Given the description of an element on the screen output the (x, y) to click on. 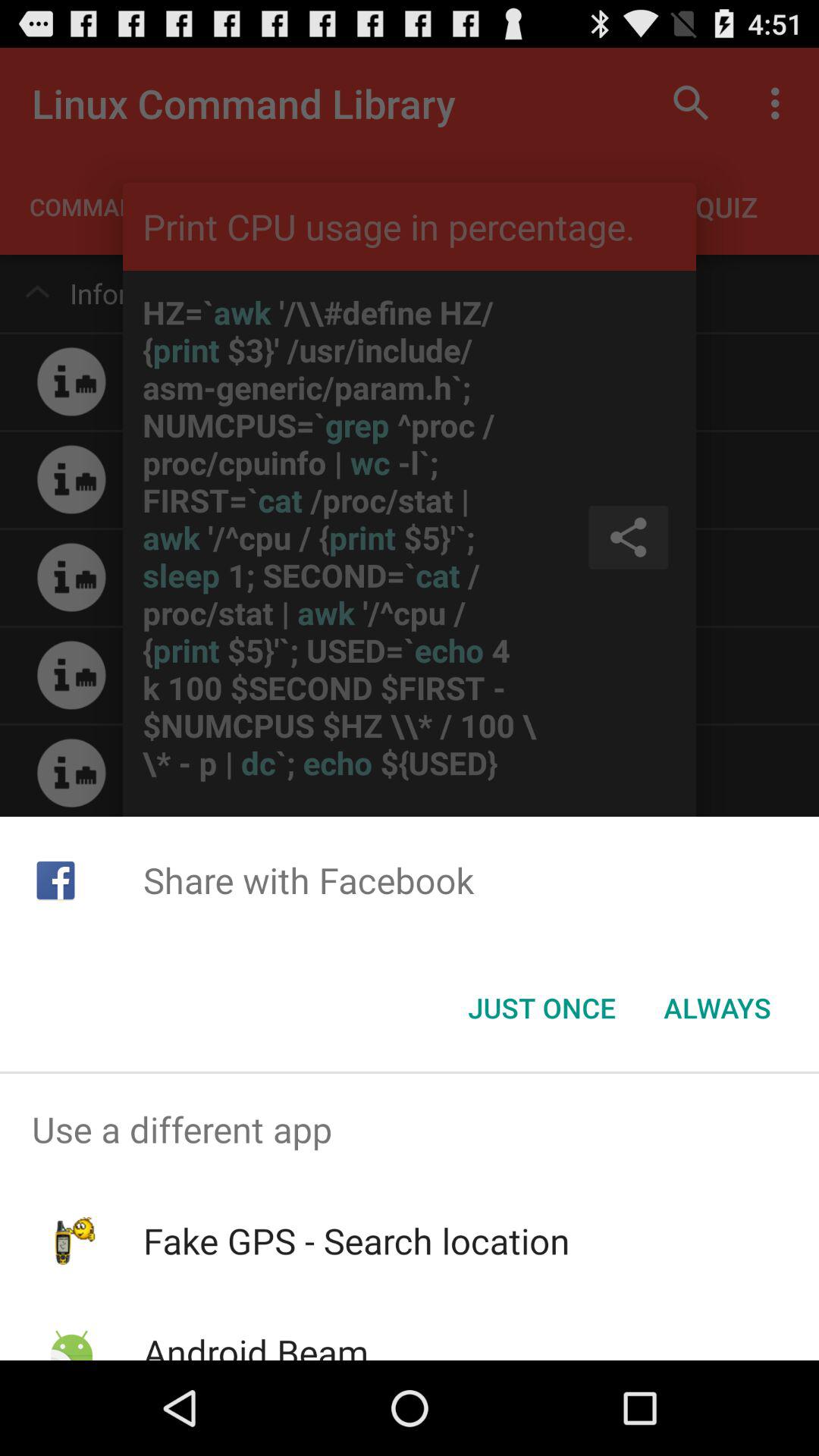
turn off the use a different icon (409, 1129)
